Given the description of an element on the screen output the (x, y) to click on. 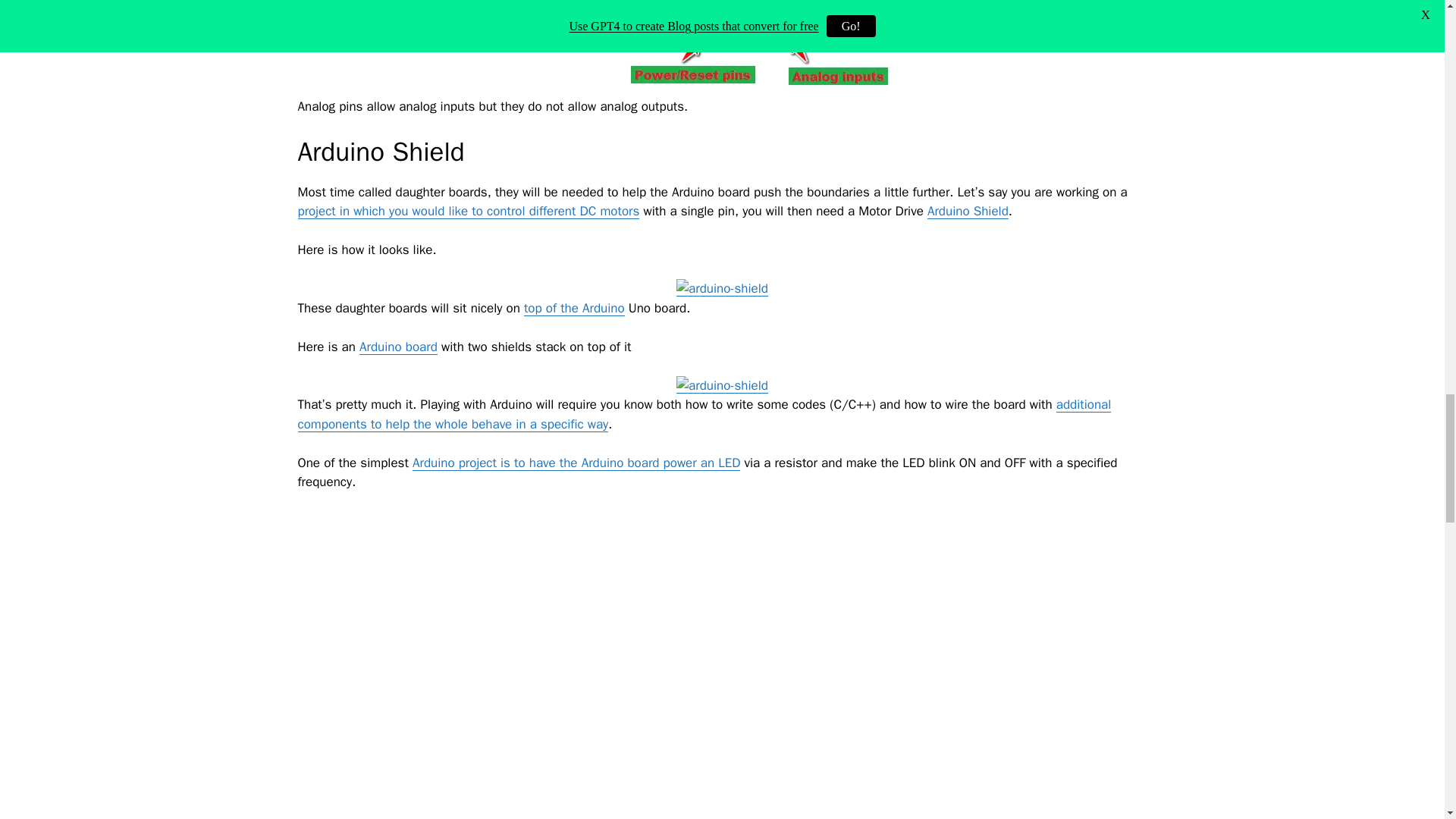
Arduino Shield (968, 211)
Arduino project is to have the Arduino board power an LED (576, 462)
top of the Arduino (574, 308)
Arduino board (398, 346)
